Given the description of an element on the screen output the (x, y) to click on. 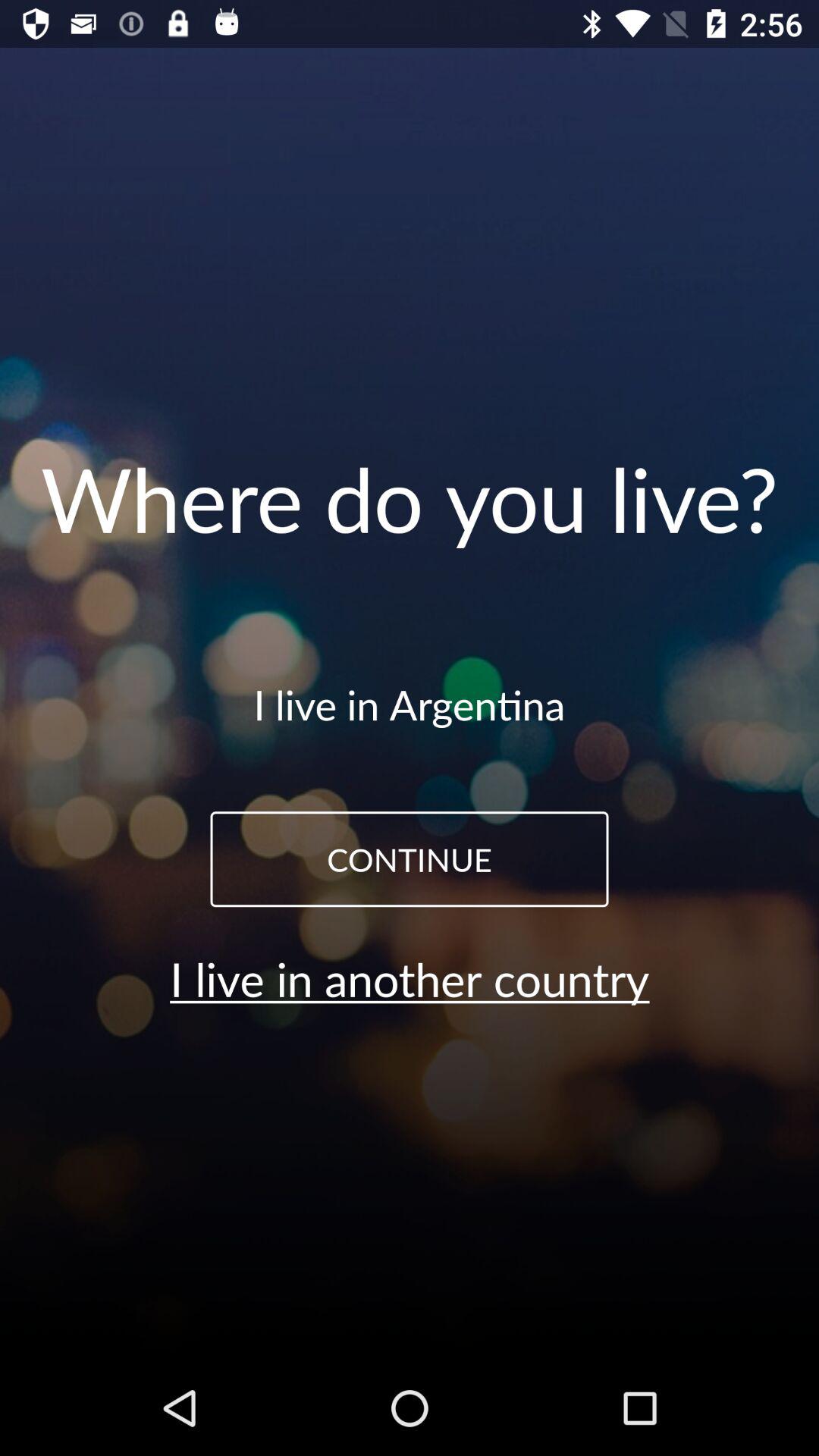
click the icon above the i live in item (409, 859)
